Given the description of an element on the screen output the (x, y) to click on. 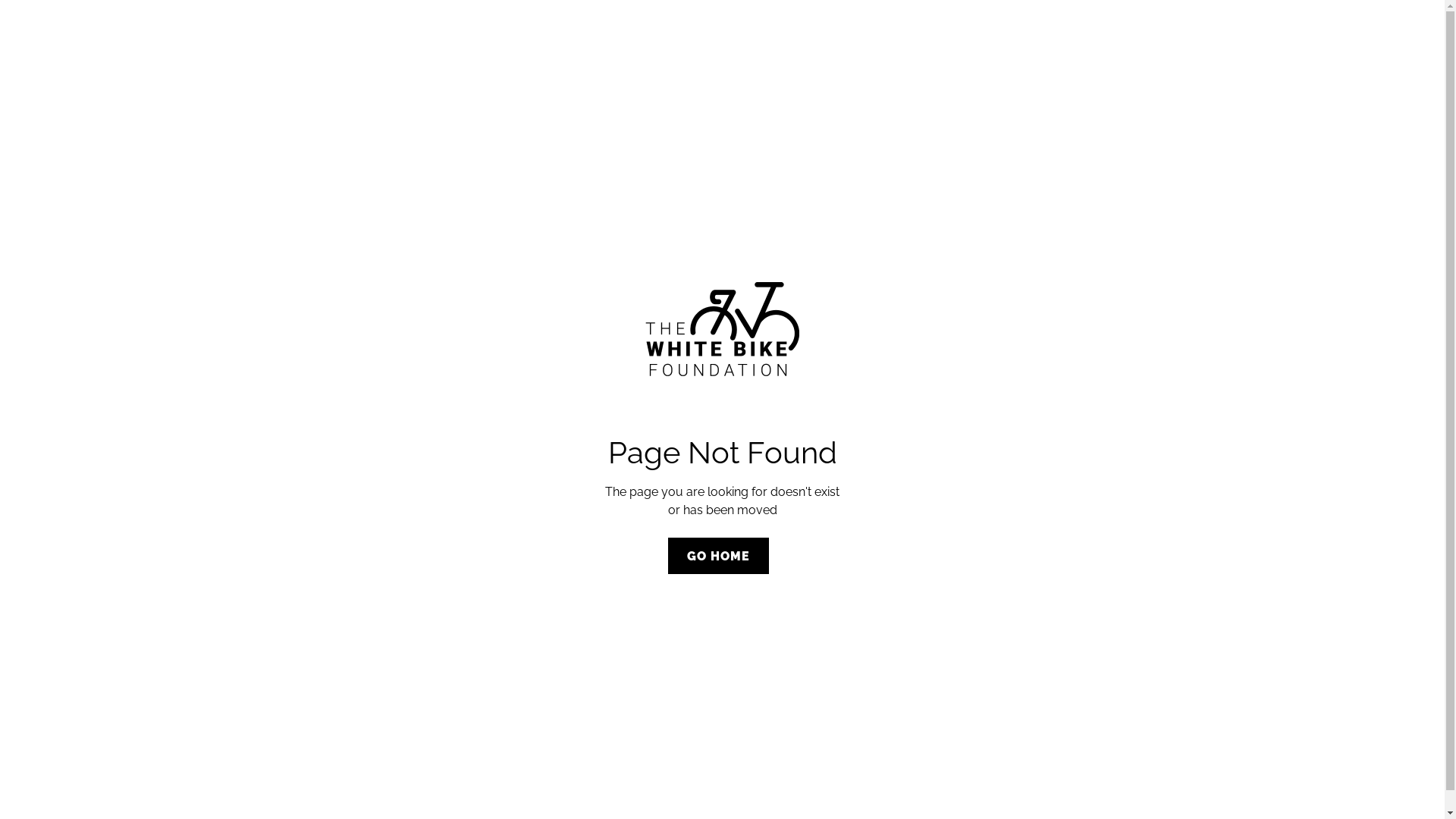
GO HOME Element type: text (718, 554)
